Given the description of an element on the screen output the (x, y) to click on. 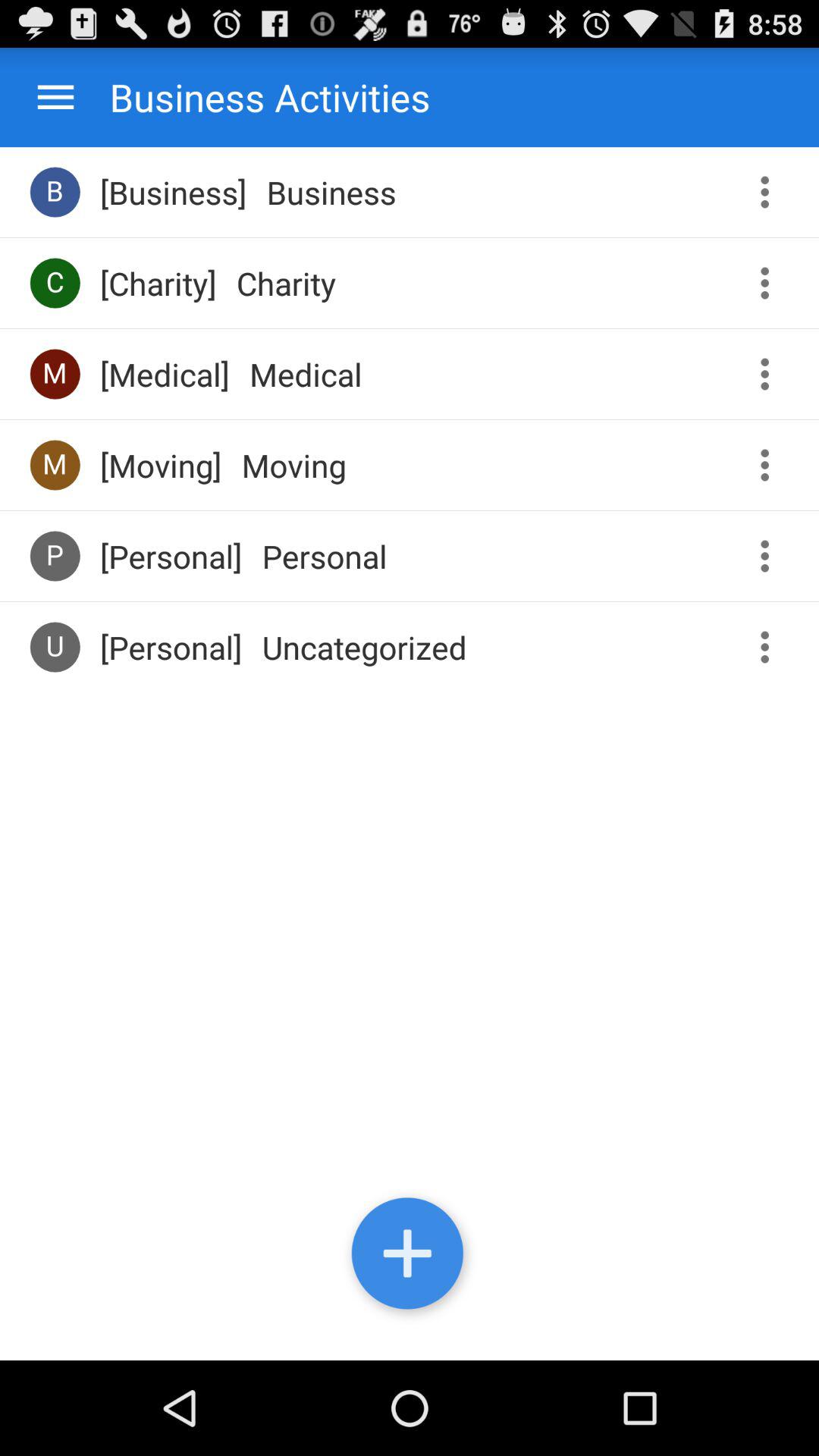
turn on item above [business] icon (254, 96)
